Given the description of an element on the screen output the (x, y) to click on. 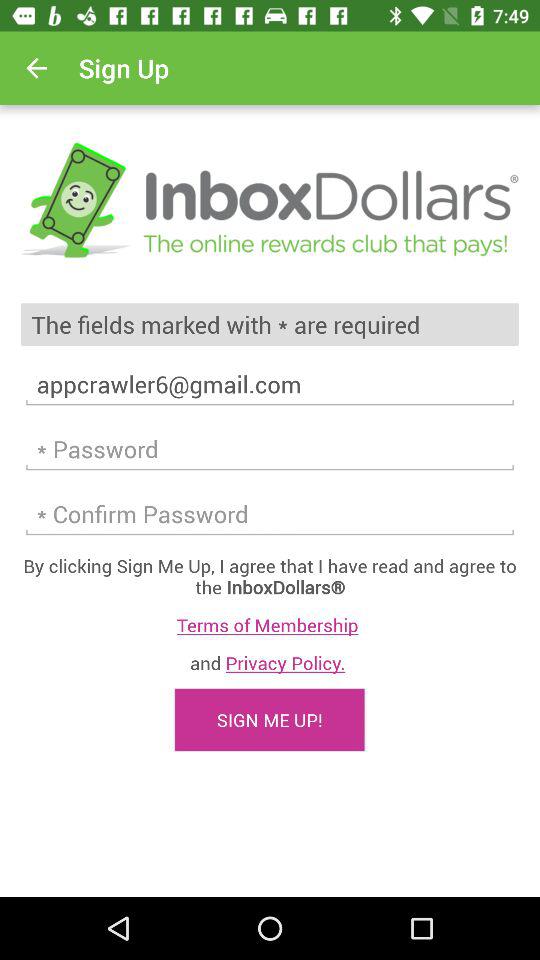
launch the terms of membership  icon (270, 624)
